Given the description of an element on the screen output the (x, y) to click on. 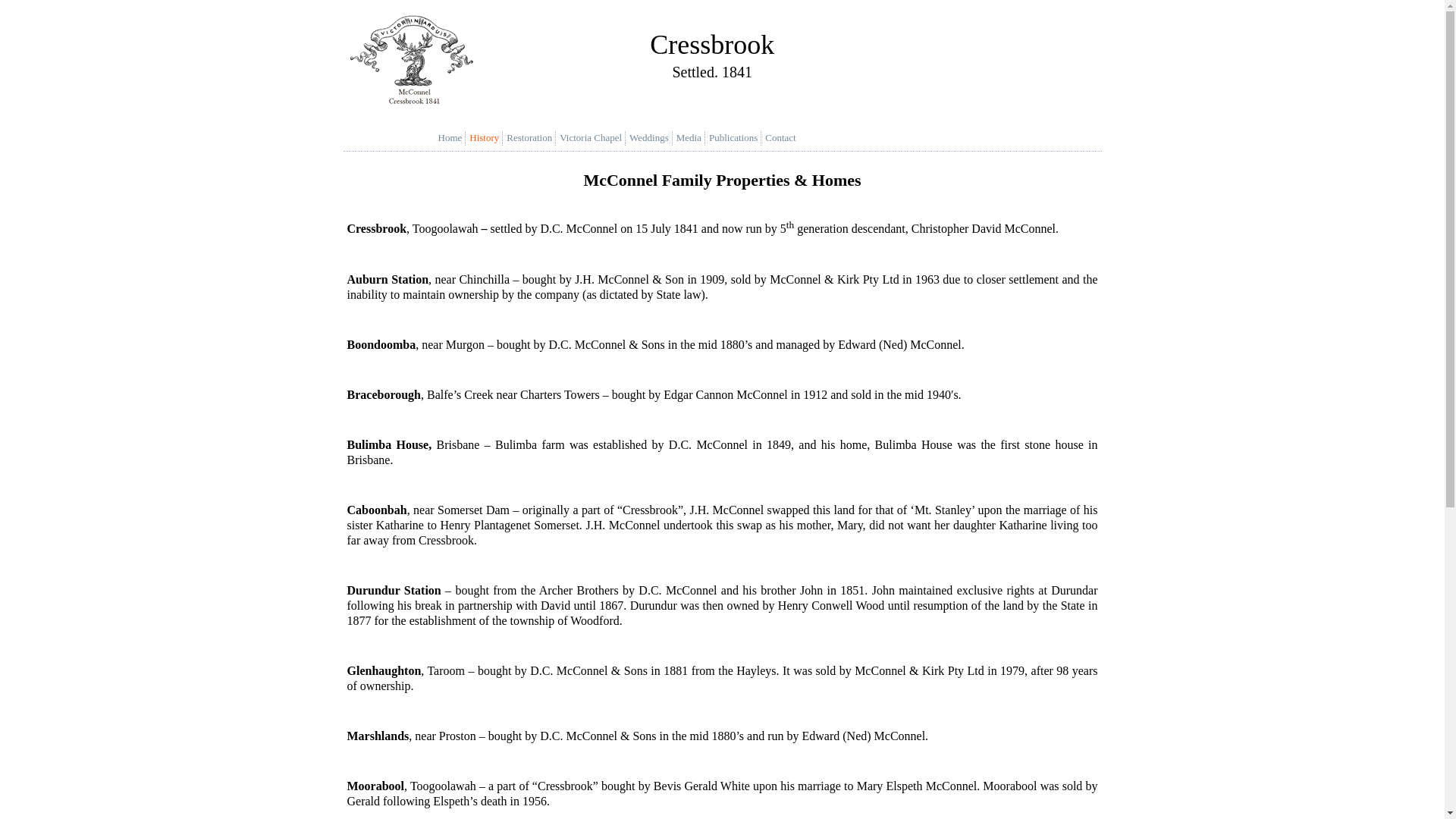
Restoration Element type: text (532, 137)
Media Element type: text (692, 137)
Home Element type: text (454, 137)
Weddings Element type: text (652, 137)
Publications Element type: text (737, 137)
History Element type: text (487, 137)
Contact Element type: text (784, 137)
Victoria Chapel Element type: text (594, 137)
